Given the description of an element on the screen output the (x, y) to click on. 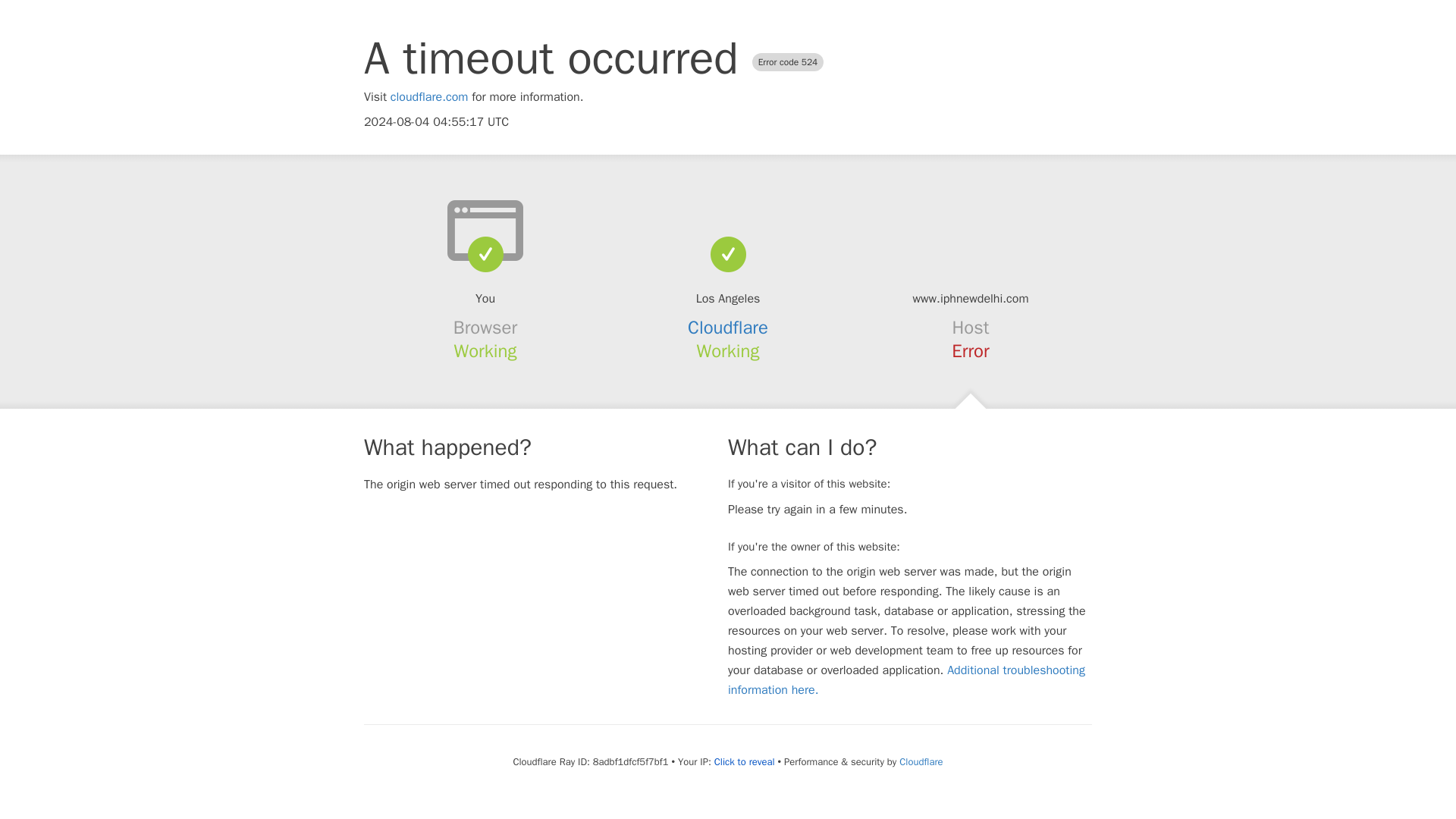
cloudflare.com (429, 96)
Cloudflare (727, 327)
Additional troubleshooting information here. (906, 679)
Click to reveal (744, 762)
Cloudflare (920, 761)
